Given the description of an element on the screen output the (x, y) to click on. 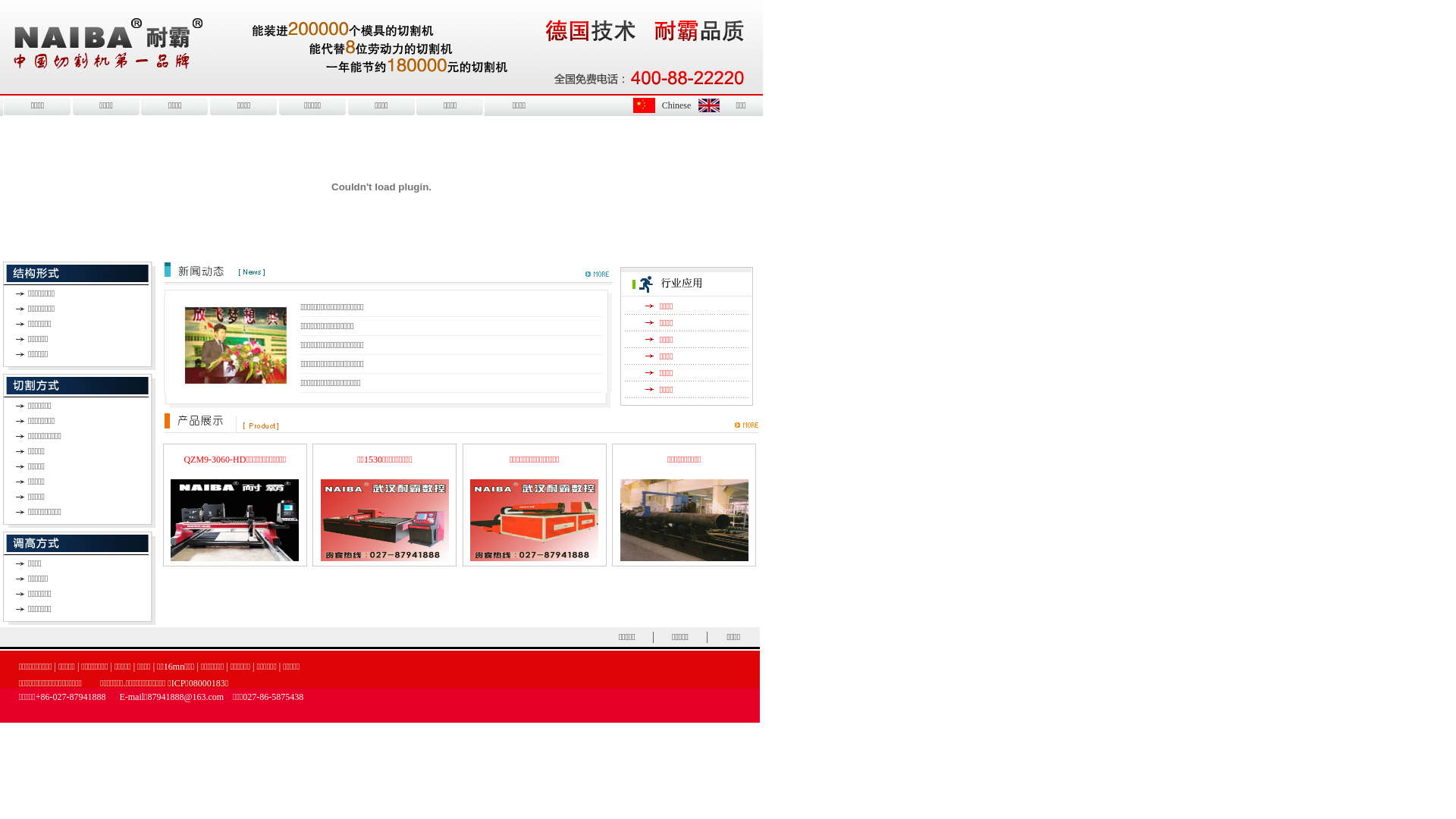
Chinese Element type: text (676, 105)
